Given the description of an element on the screen output the (x, y) to click on. 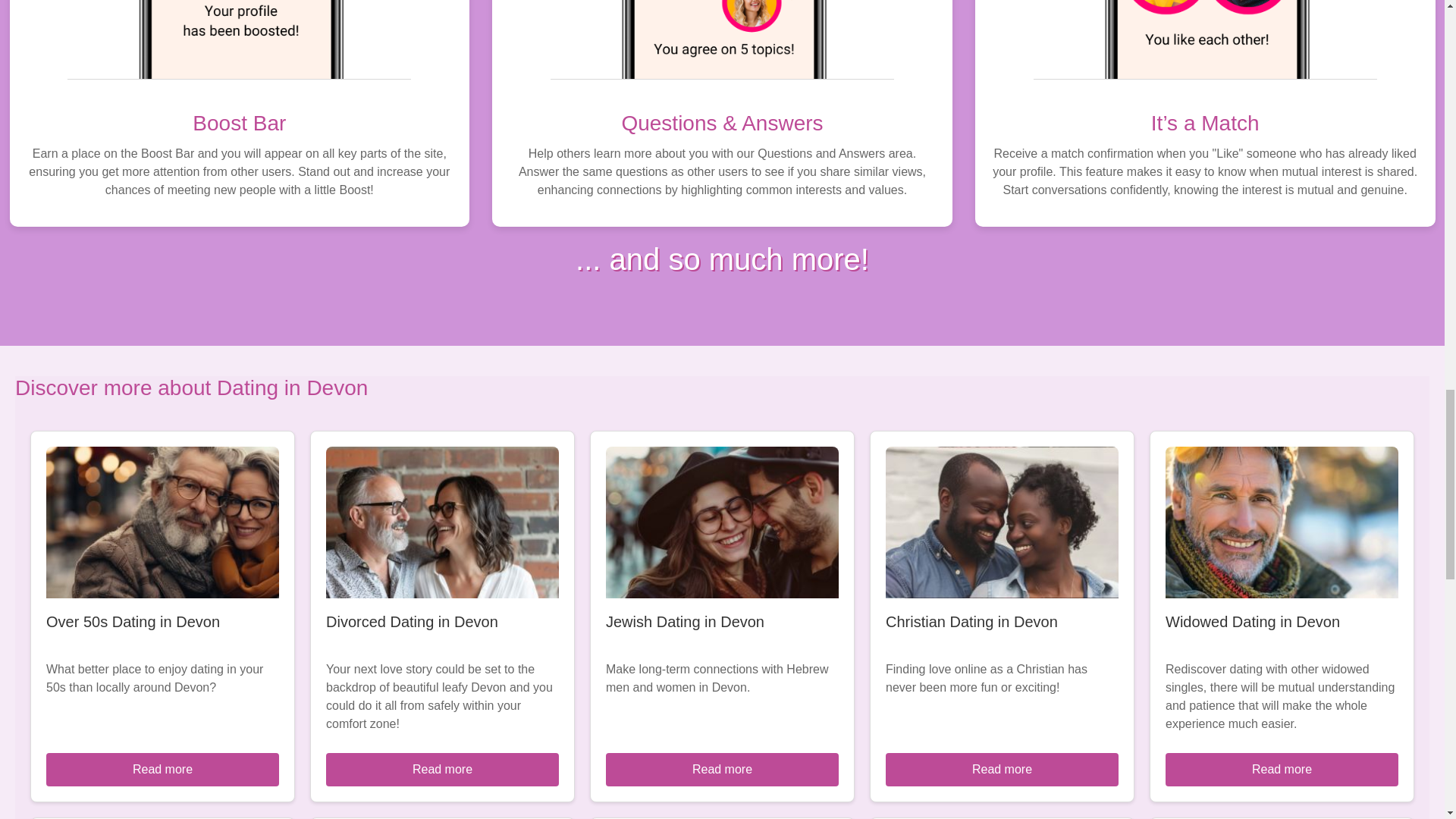
Read more (1001, 769)
Read more (1281, 769)
Read more (162, 769)
Read more (721, 769)
Read more (442, 769)
